Given the description of an element on the screen output the (x, y) to click on. 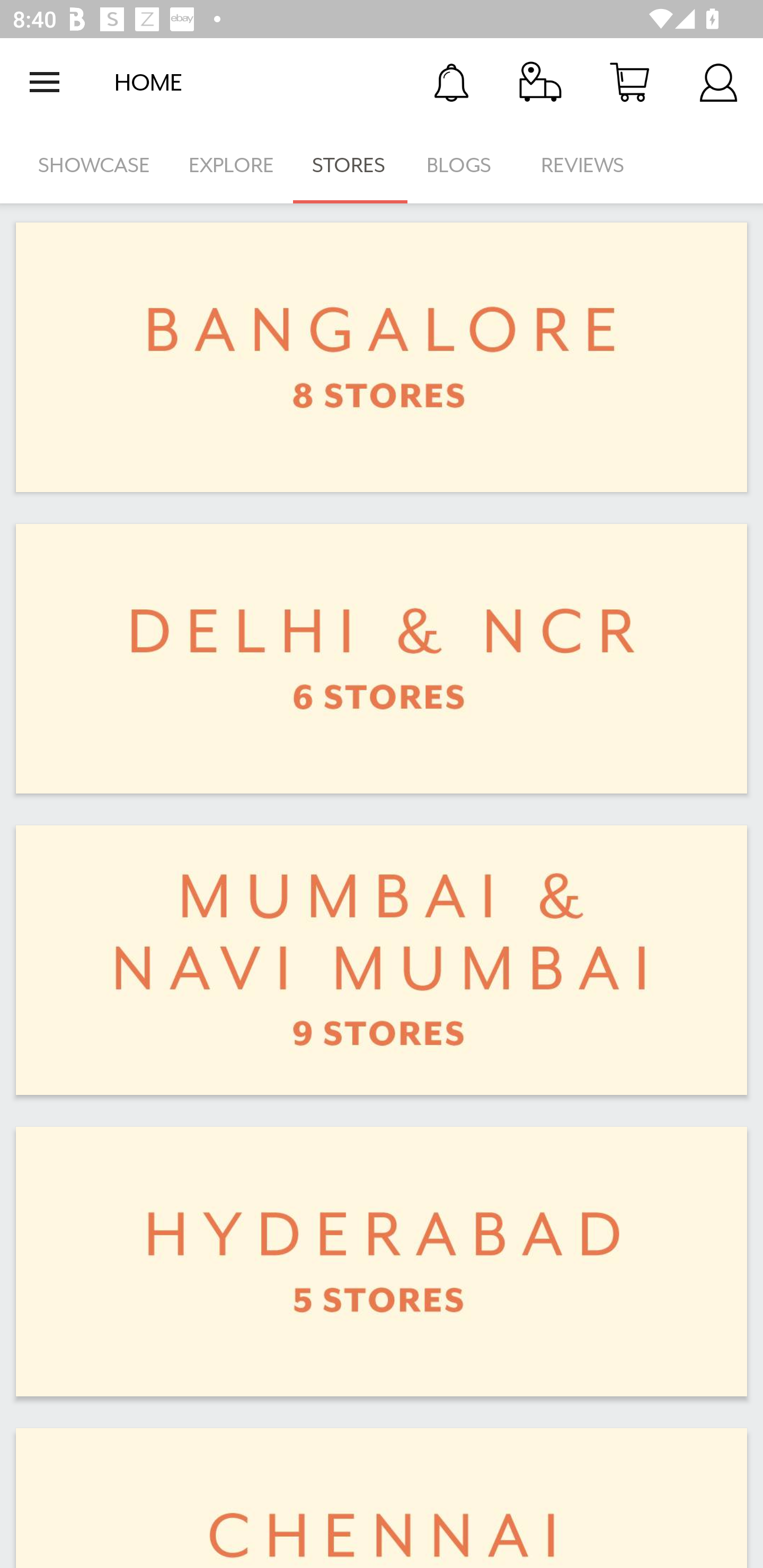
Open navigation drawer (44, 82)
Notification (450, 81)
Track Order (540, 81)
Cart (629, 81)
Account Details (718, 81)
SHOWCASE (94, 165)
EXPLORE (230, 165)
STORES (349, 165)
BLOGS (464, 165)
REVIEWS (582, 165)
